Given the description of an element on the screen output the (x, y) to click on. 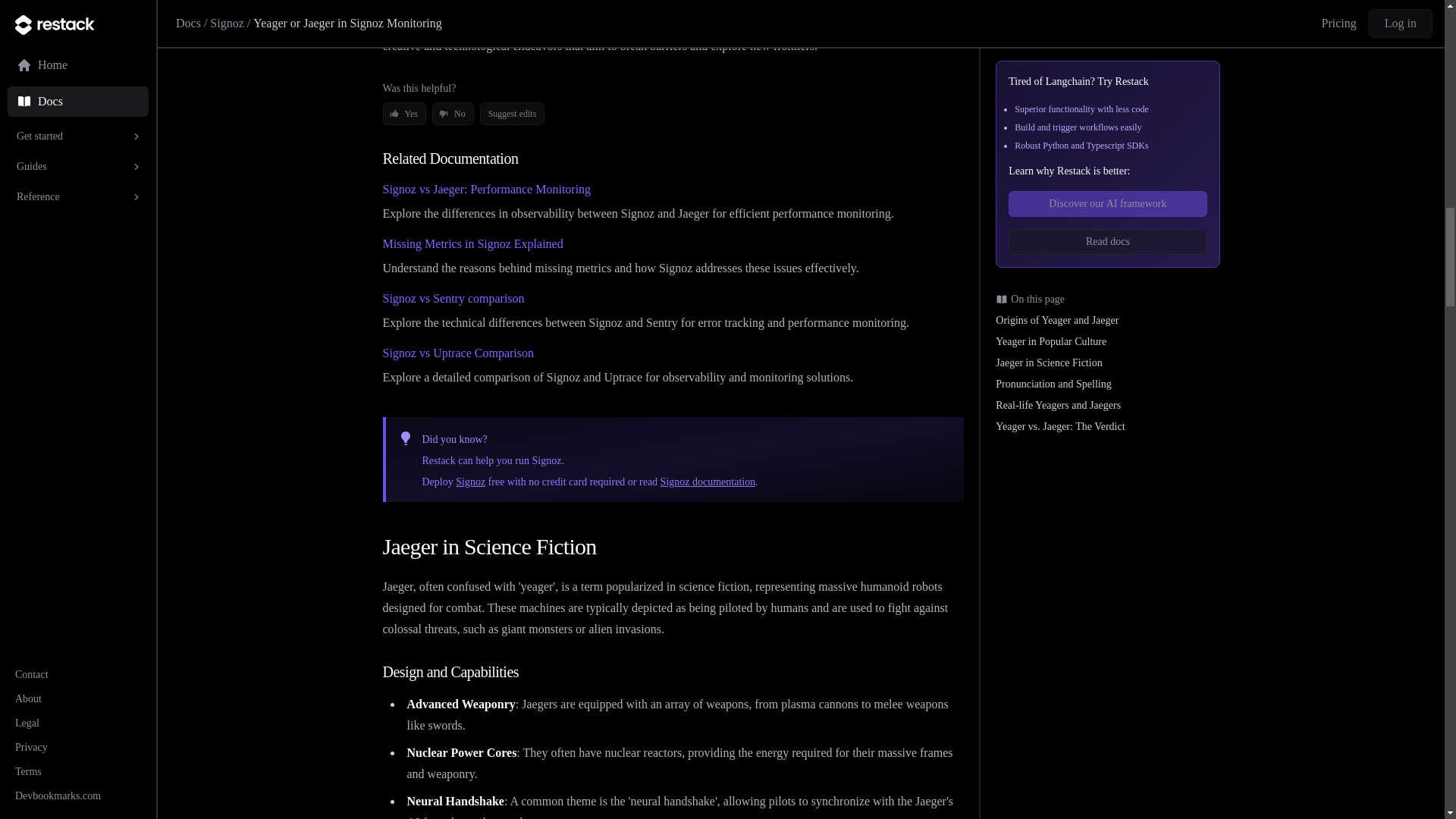
No (453, 113)
Yes (403, 113)
